Given the description of an element on the screen output the (x, y) to click on. 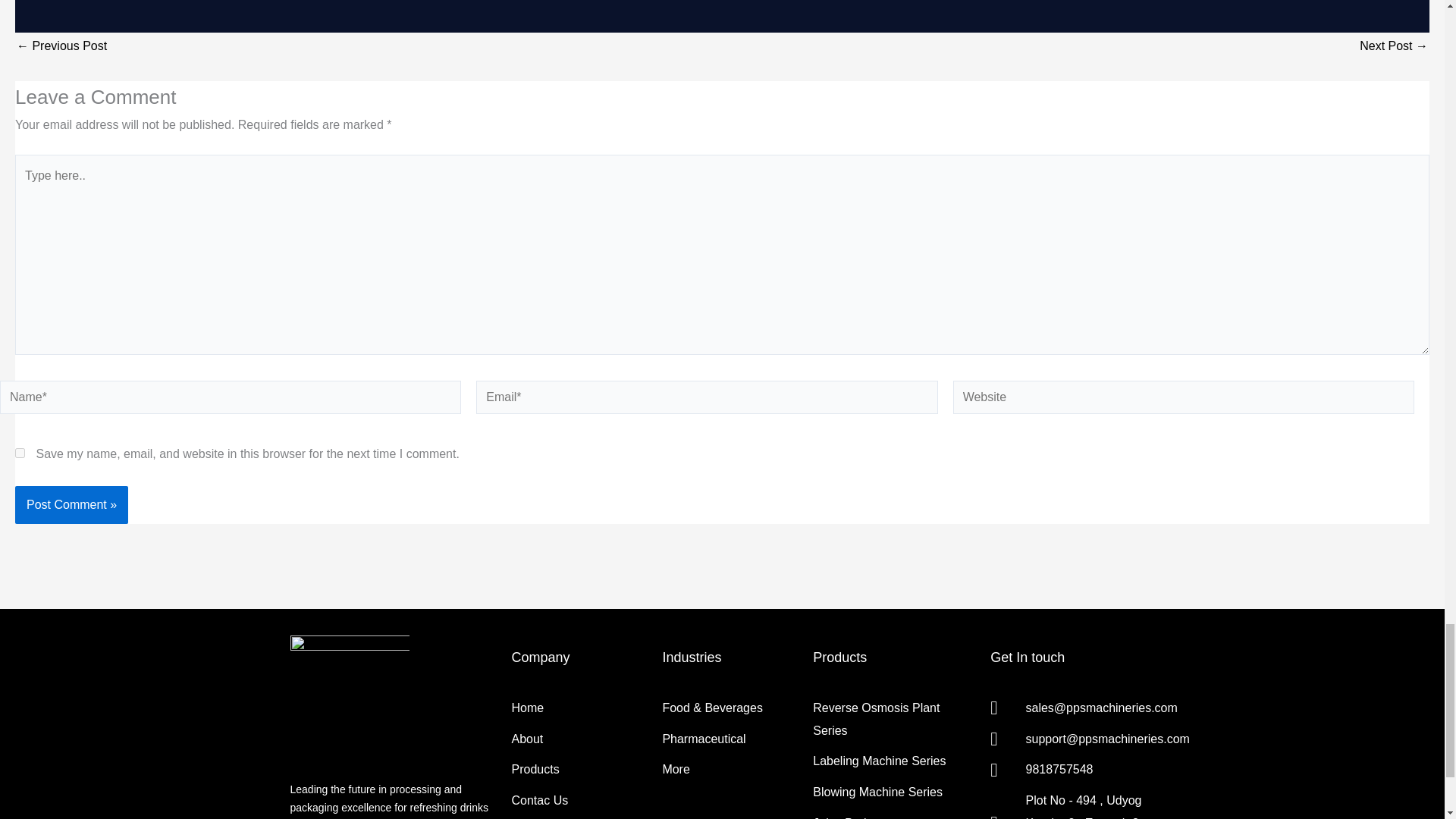
yes (19, 452)
